Given the description of an element on the screen output the (x, y) to click on. 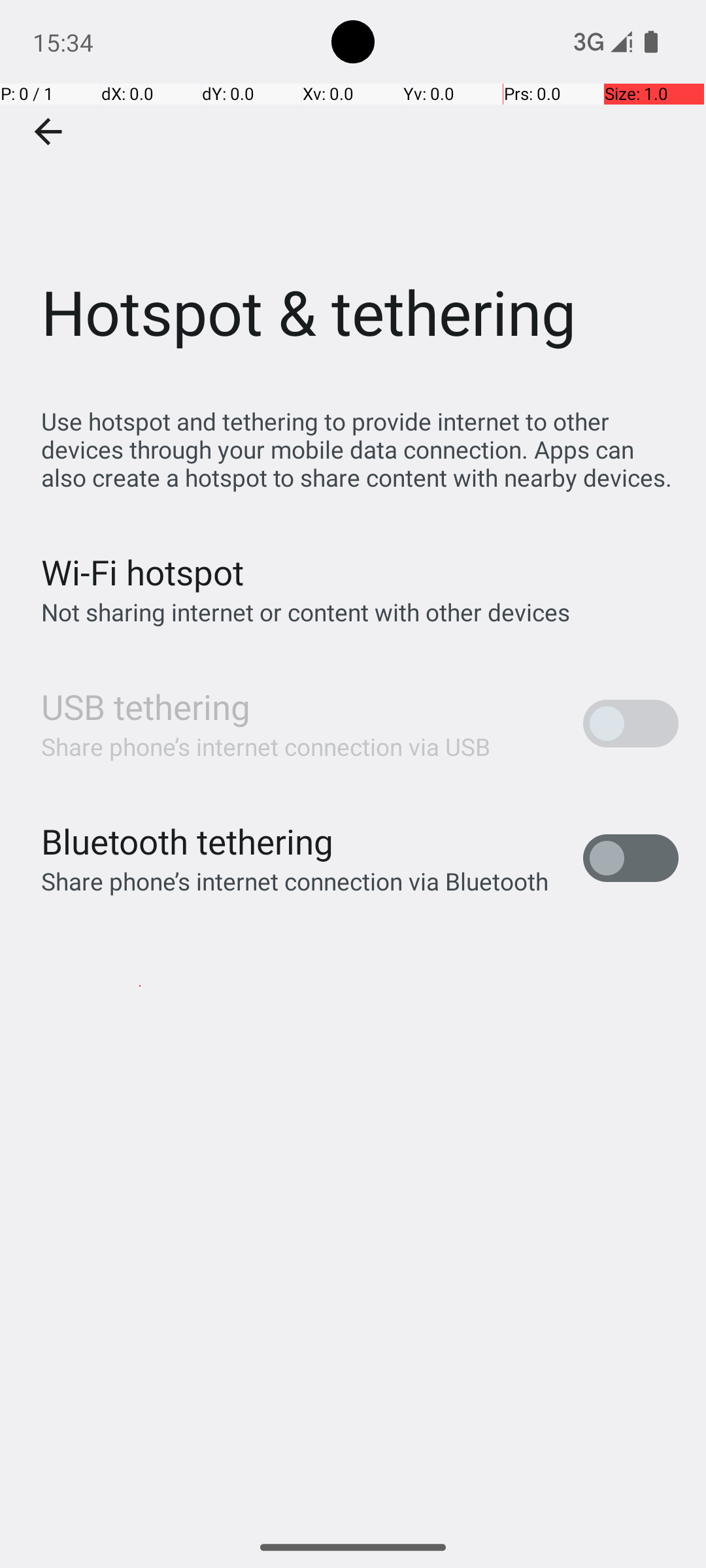
Use hotspot and tethering to provide internet to other devices through your mobile data connection. Apps can also create a hotspot to share content with nearby devices. Element type: android.widget.TextView (359, 448)
Wi‑Fi hotspot Element type: android.widget.TextView (142, 571)
Not sharing internet or content with other devices Element type: android.widget.TextView (305, 611)
USB tethering Element type: android.widget.TextView (145, 706)
Share phone’s internet connection via USB Element type: android.widget.TextView (265, 746)
Bluetooth tethering Element type: android.widget.TextView (187, 840)
Share phone’s internet connection via Bluetooth Element type: android.widget.TextView (294, 880)
